Given the description of an element on the screen output the (x, y) to click on. 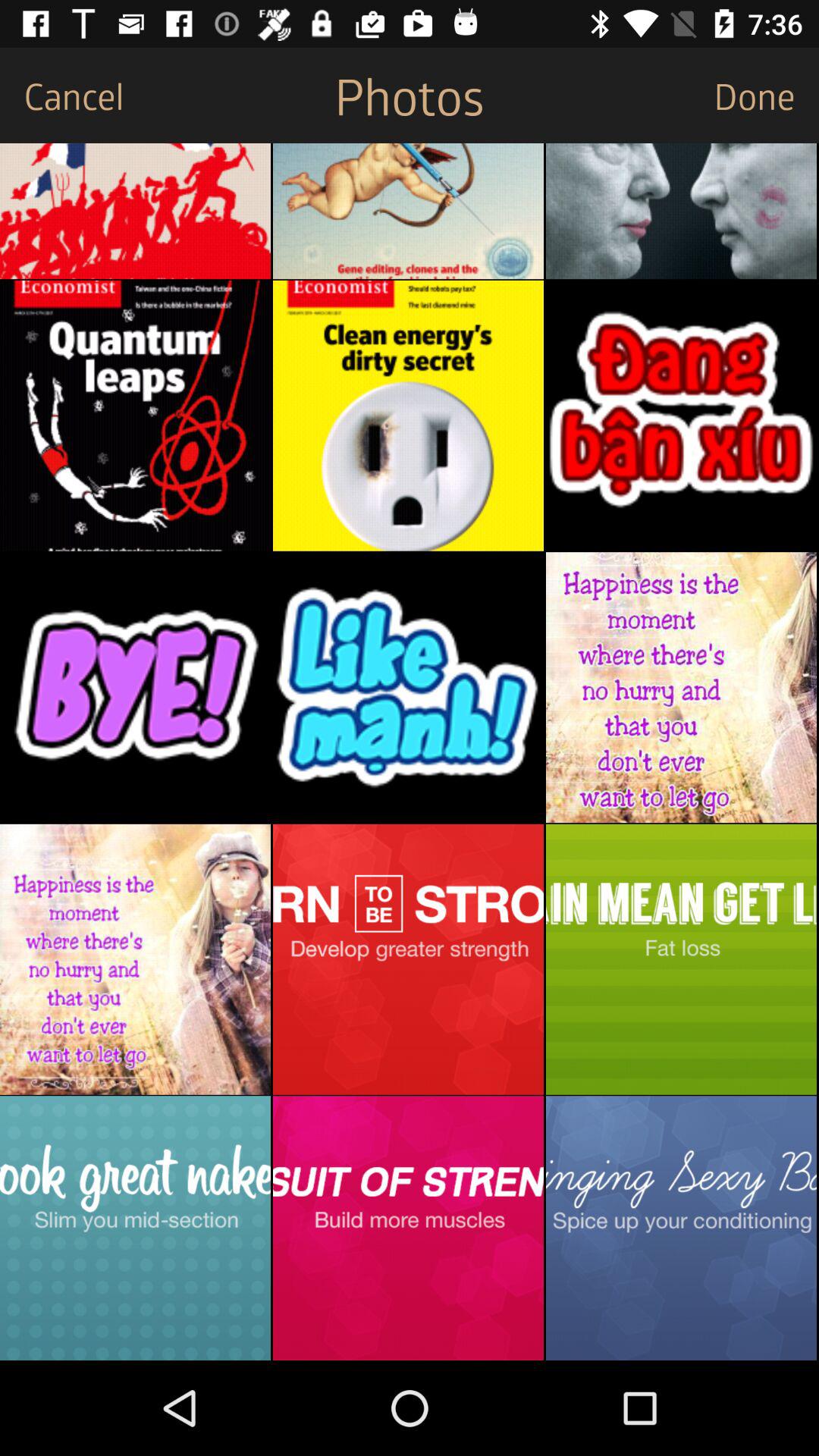
choose photo (408, 211)
